Given the description of an element on the screen output the (x, y) to click on. 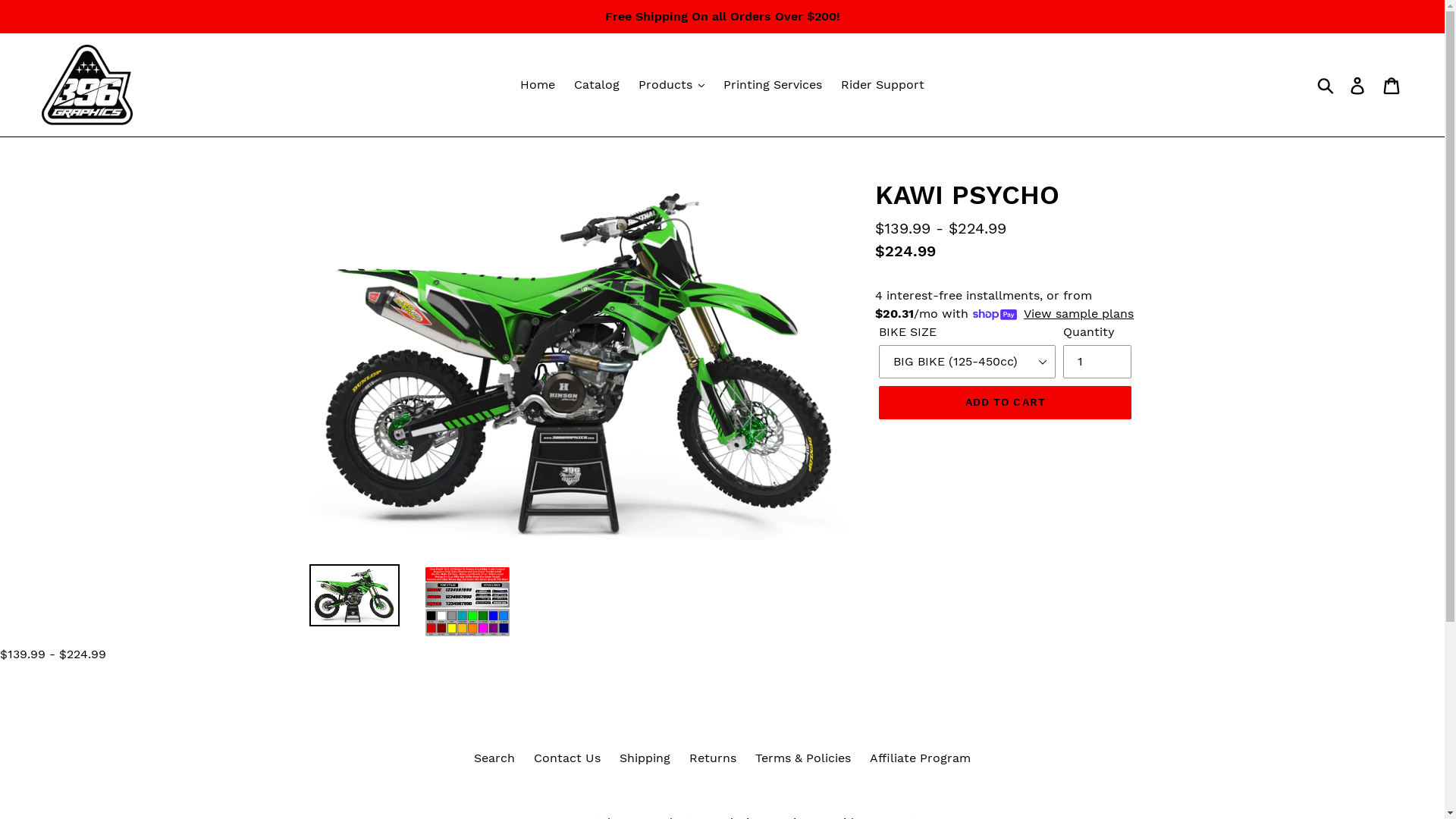
Search Element type: text (493, 757)
Submit Element type: text (1326, 84)
Affiliate Program Element type: text (919, 757)
Catalog Element type: text (596, 84)
Cart Element type: text (1392, 85)
Returns Element type: text (712, 757)
Home Element type: text (537, 84)
Terms & Policies Element type: text (802, 757)
Rider Support Element type: text (882, 84)
Shipping Element type: text (644, 757)
Contact Us Element type: text (566, 757)
Log in Element type: text (1358, 85)
Printing Services Element type: text (772, 84)
ADD TO CART Element type: text (1004, 402)
